Given the description of an element on the screen output the (x, y) to click on. 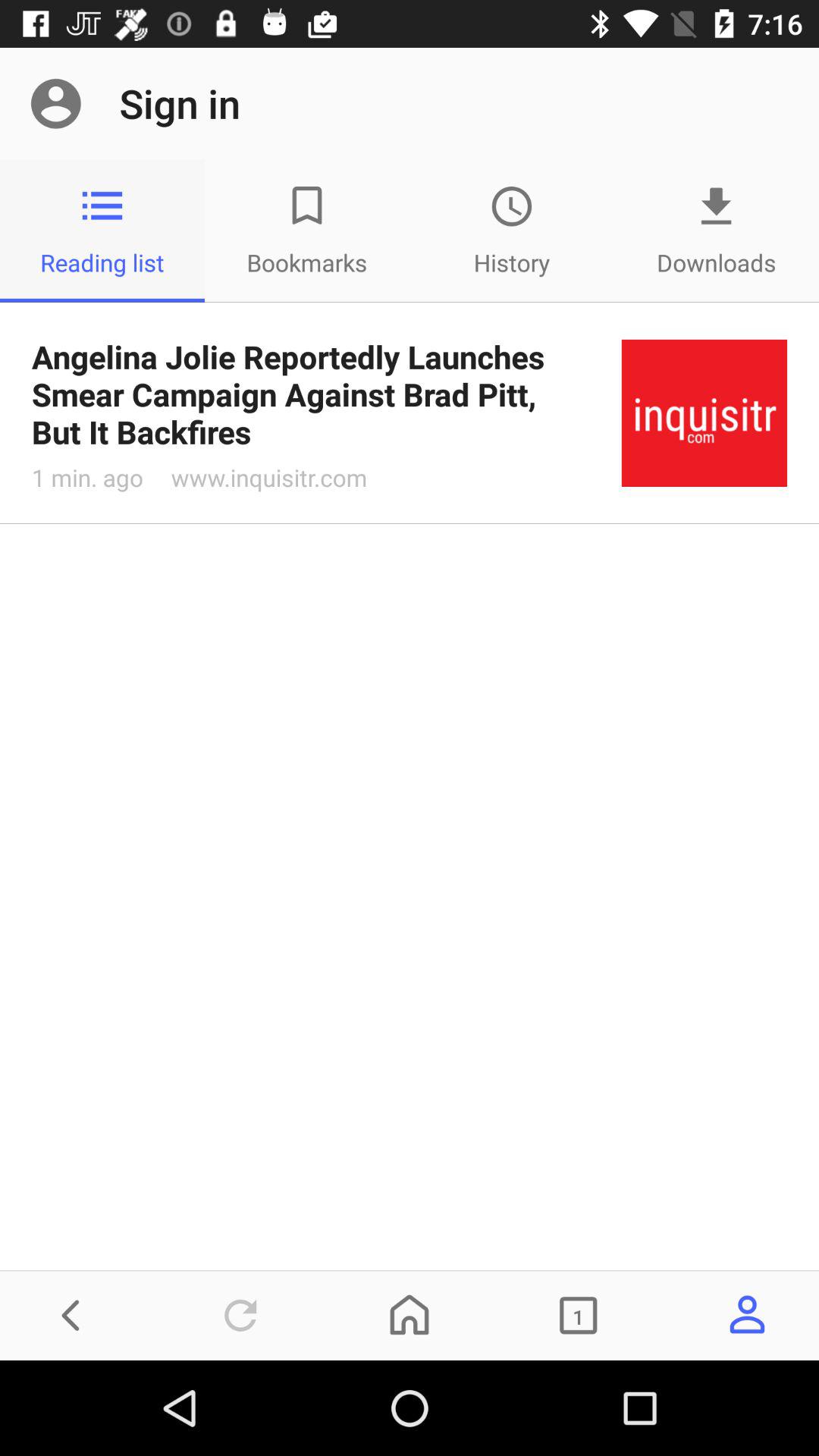
turn off the item next to sign in (55, 103)
